Given the description of an element on the screen output the (x, y) to click on. 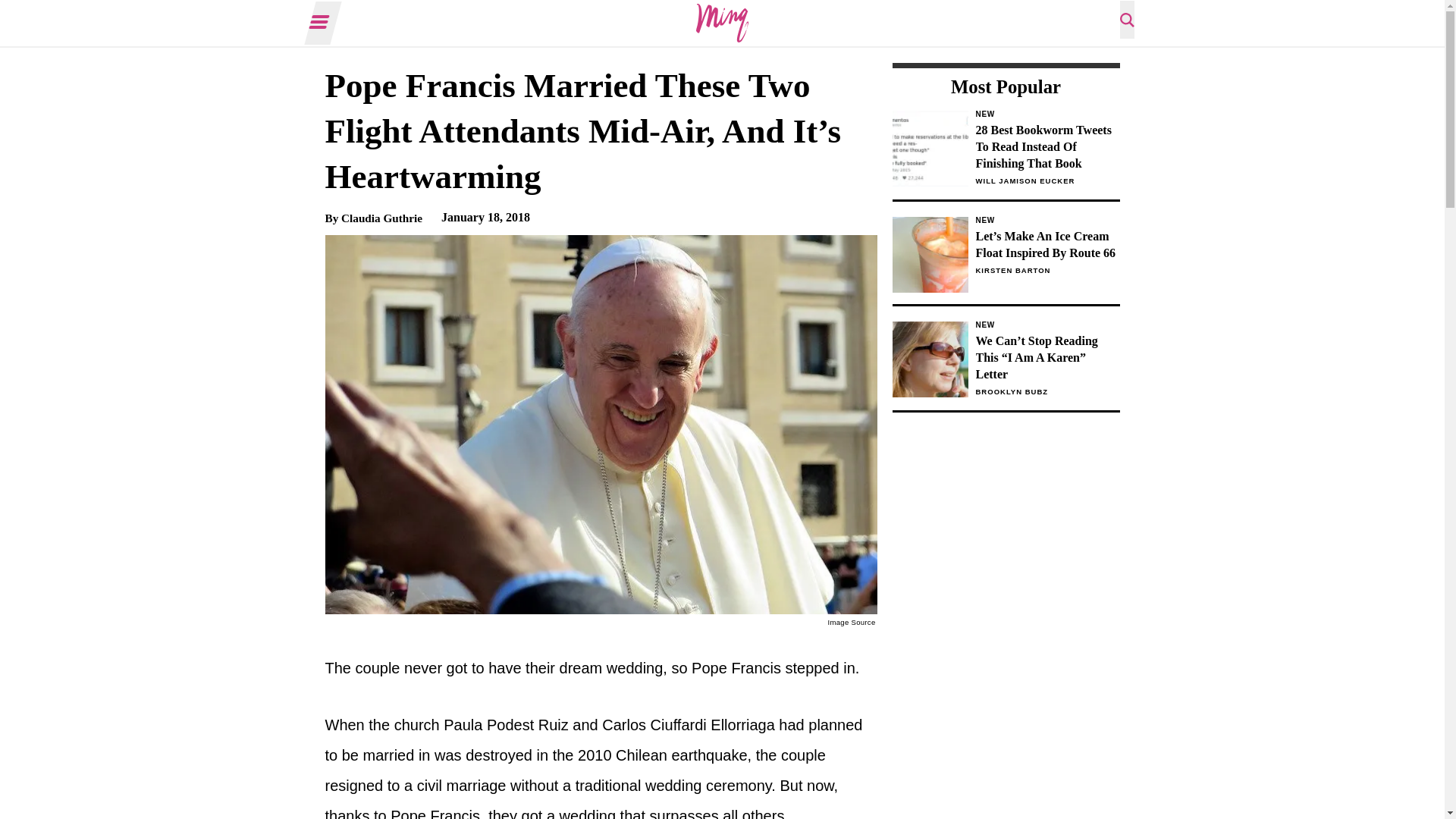
Image Source (852, 622)
New (1047, 220)
New (1047, 113)
By Claudia Guthrie (373, 217)
New (1047, 325)
Minq (722, 23)
